Given the description of an element on the screen output the (x, y) to click on. 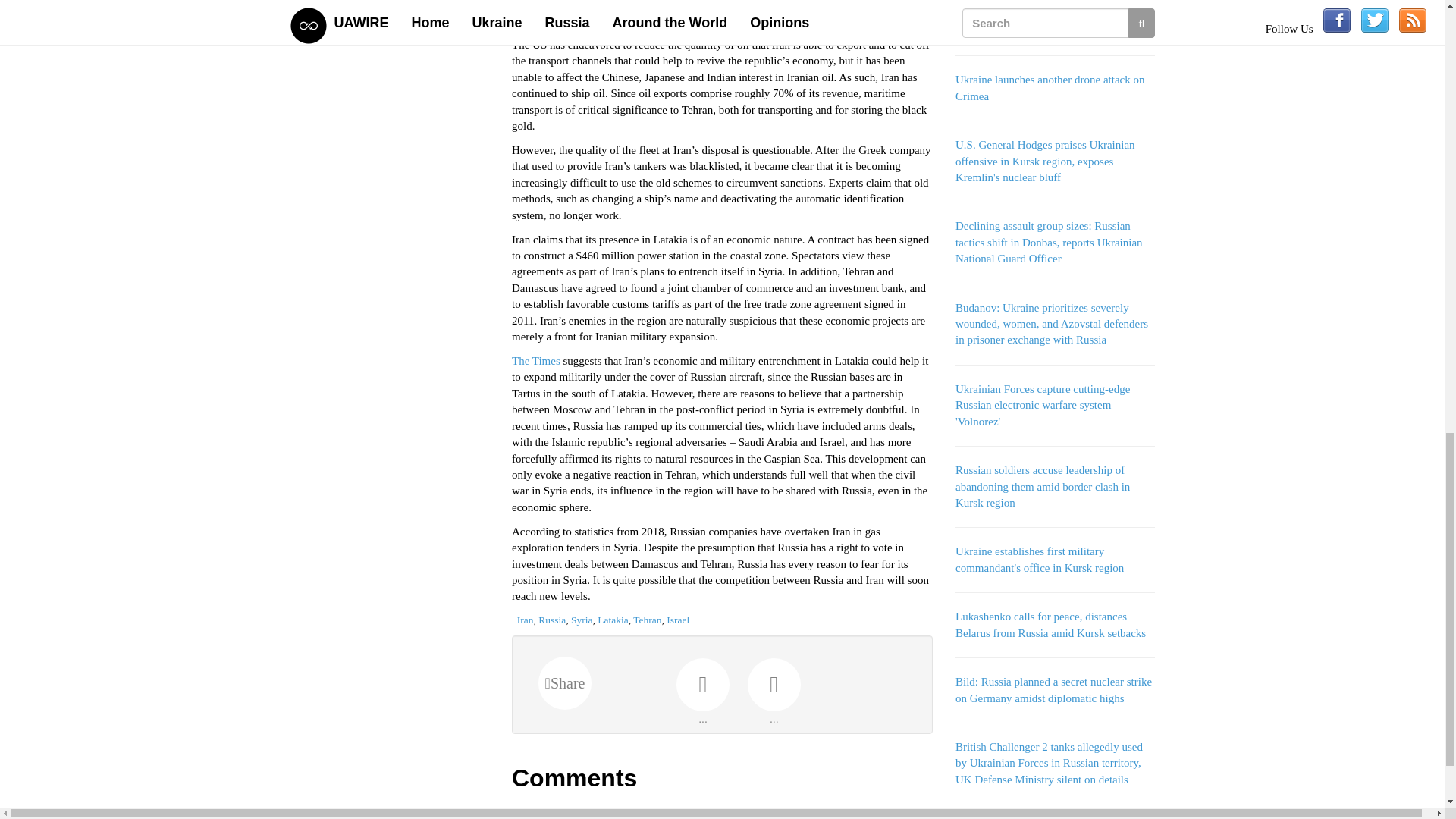
Iran (525, 619)
Israel (677, 619)
Russia (552, 619)
Syria (581, 619)
Tehran (647, 619)
Advertisement (389, 95)
Latakia (611, 619)
